Given the description of an element on the screen output the (x, y) to click on. 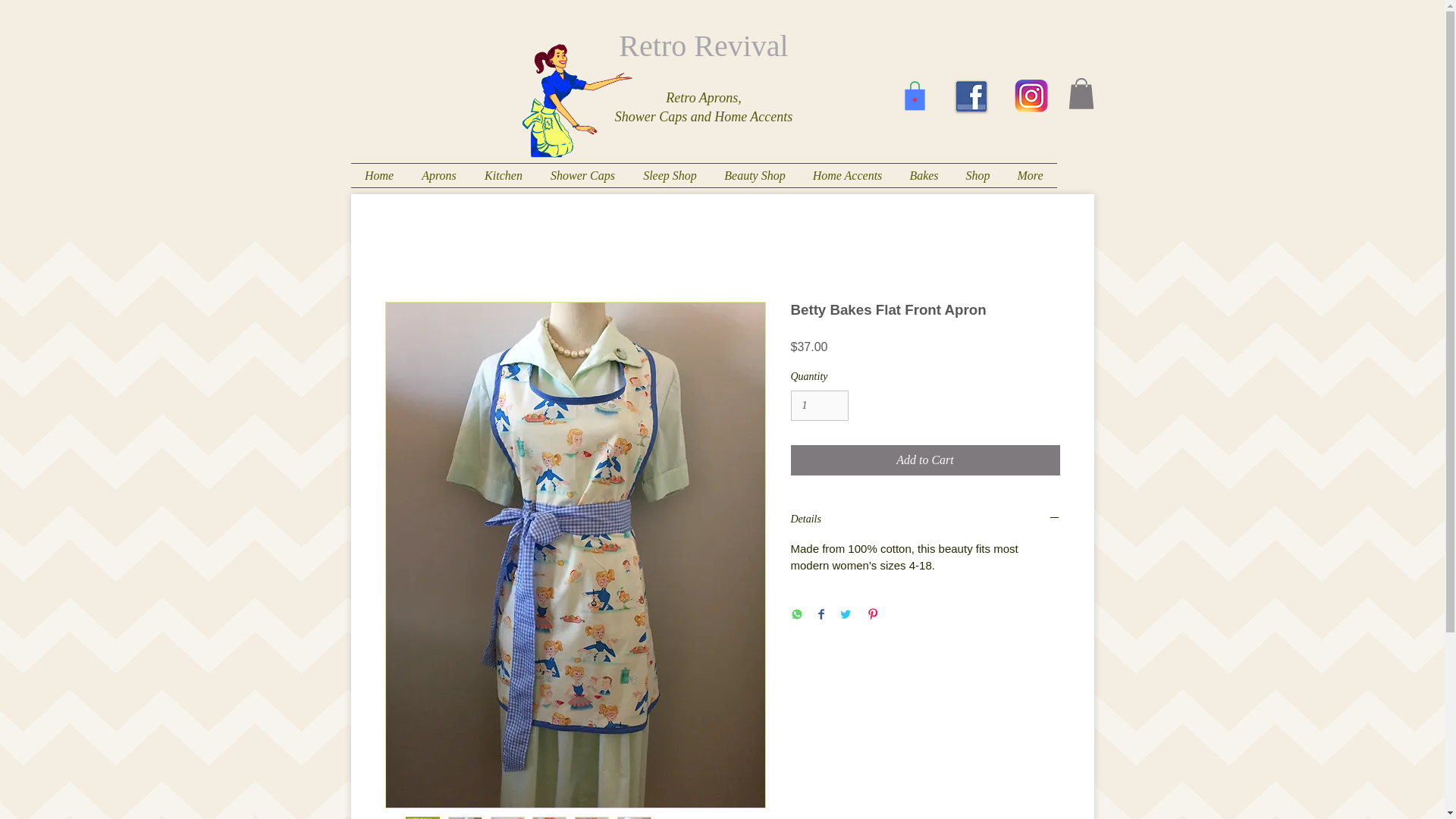
Home Accents (847, 175)
1 (818, 405)
Sleep Shop (669, 175)
Shop (978, 175)
Shower Caps (582, 175)
Aprons (438, 175)
Kitchen (502, 175)
Beauty Shop (755, 175)
Home (378, 175)
Bakes (924, 175)
Details (924, 519)
Add to Cart (924, 460)
rr2-logo.gif (576, 101)
